Given the description of an element on the screen output the (x, y) to click on. 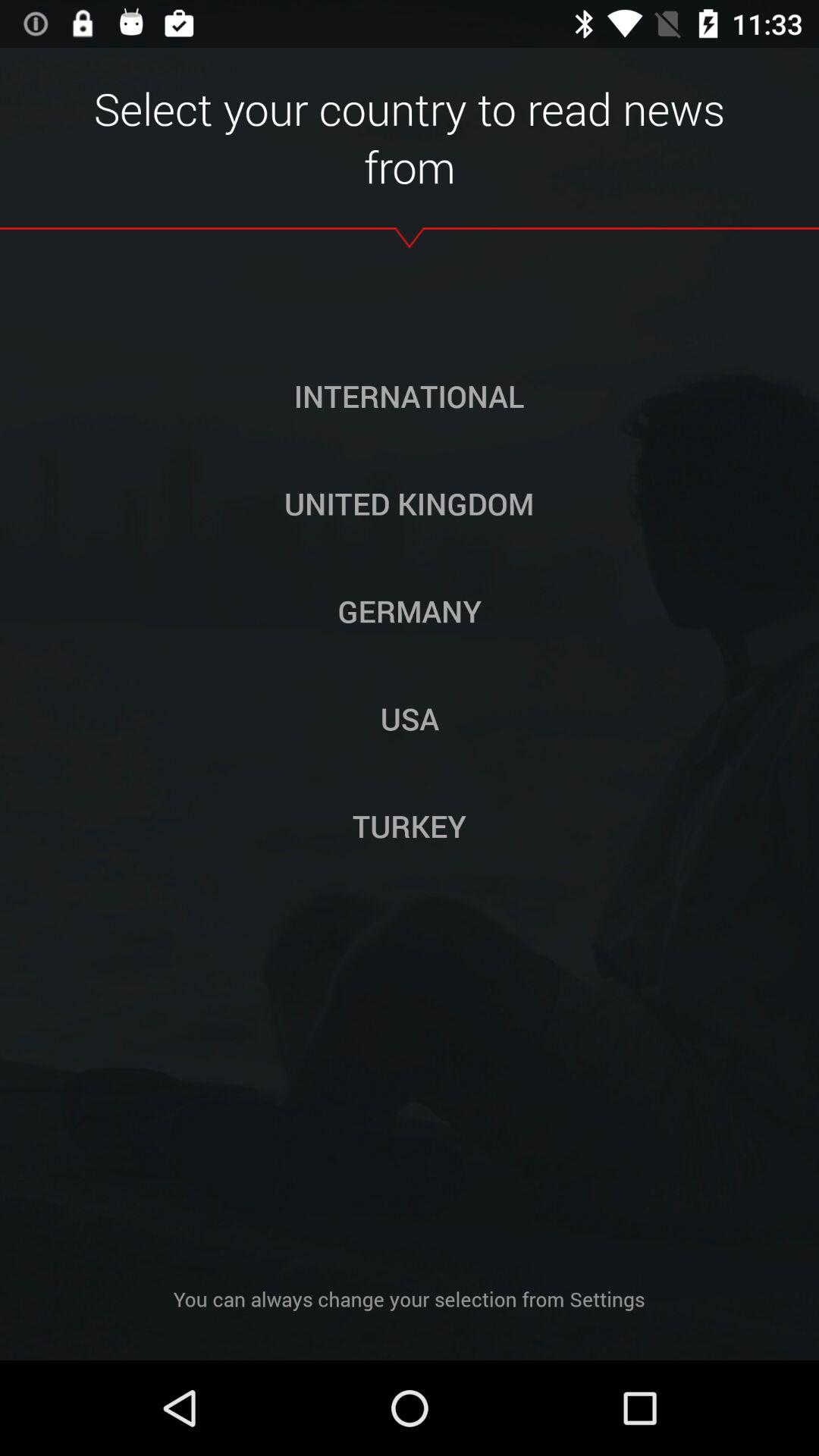
jump until germany item (409, 610)
